Given the description of an element on the screen output the (x, y) to click on. 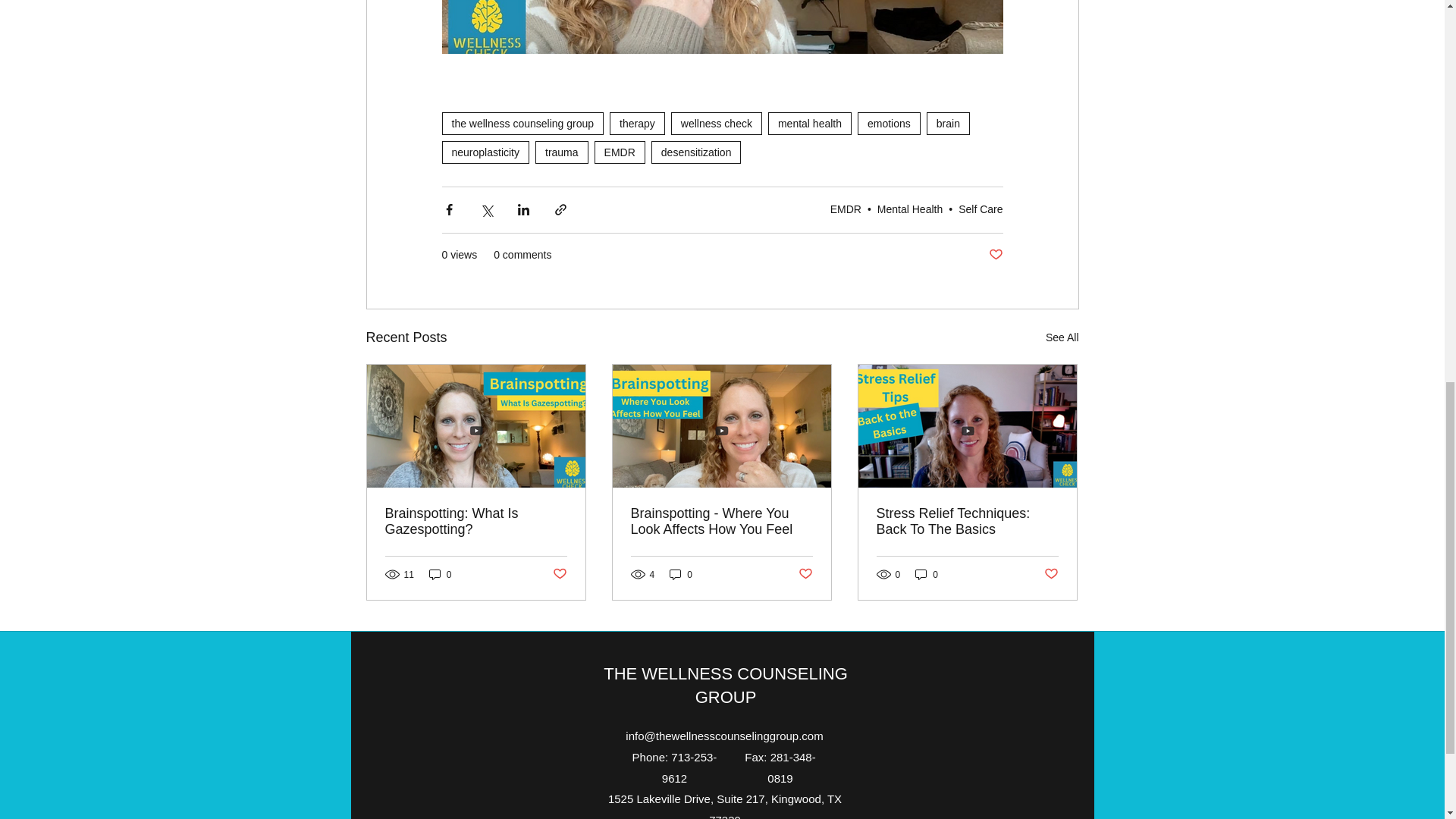
trauma (561, 151)
neuroplasticity (485, 151)
desensitization (695, 151)
emotions (888, 123)
the wellness counseling group (522, 123)
mental health (809, 123)
EMDR (845, 209)
wellness check (716, 123)
therapy (637, 123)
brain (947, 123)
Mental Health (909, 209)
EMDR (619, 151)
